Given the description of an element on the screen output the (x, y) to click on. 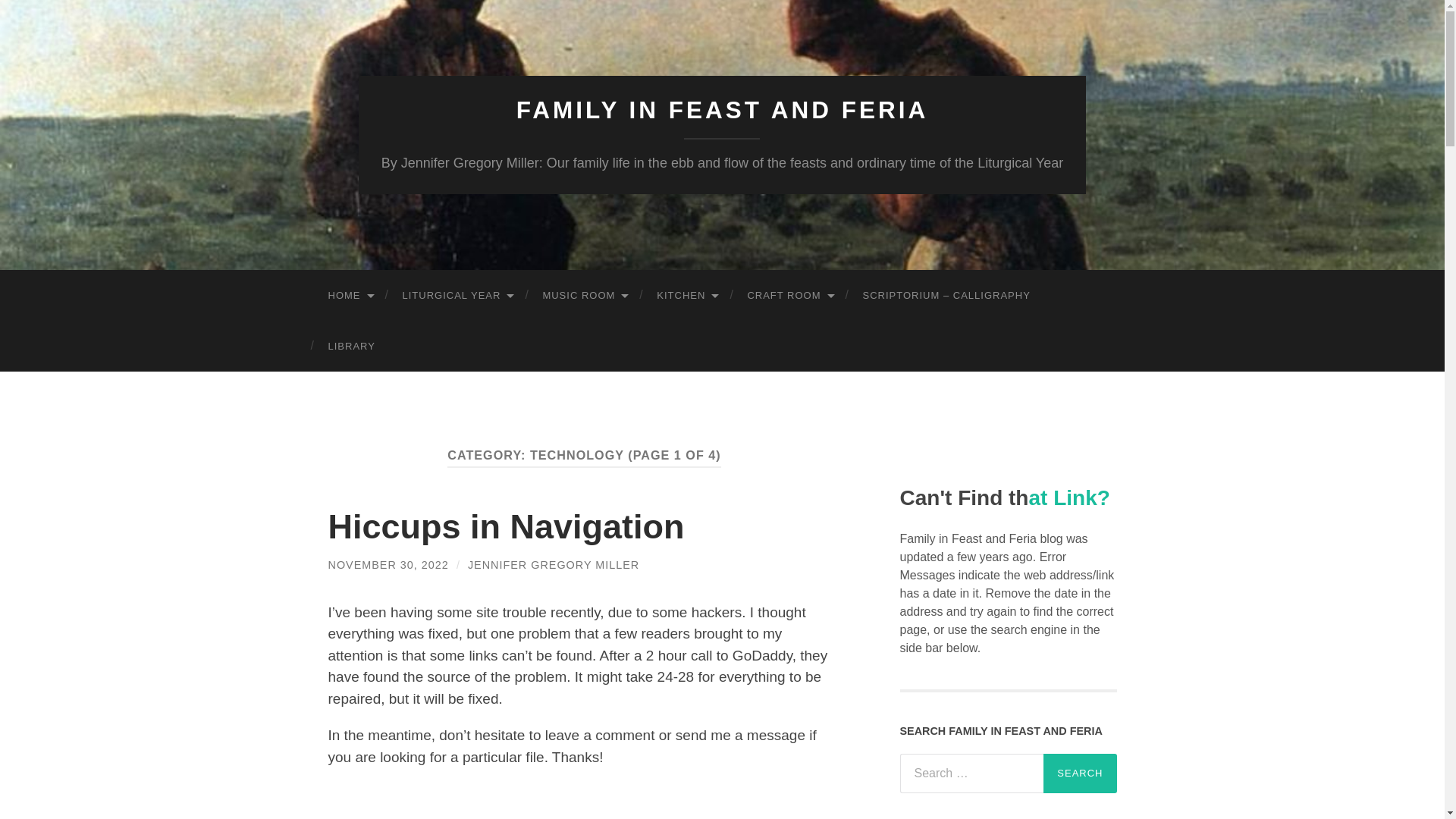
MUSIC ROOM (584, 295)
LITURGICAL YEAR (457, 295)
Posts by Jennifer Gregory Miller (553, 564)
CRAFT ROOM (789, 295)
KITCHEN (687, 295)
Search (1079, 773)
HOME (350, 295)
Search (1079, 773)
FAMILY IN FEAST AND FERIA (722, 109)
